Given the description of an element on the screen output the (x, y) to click on. 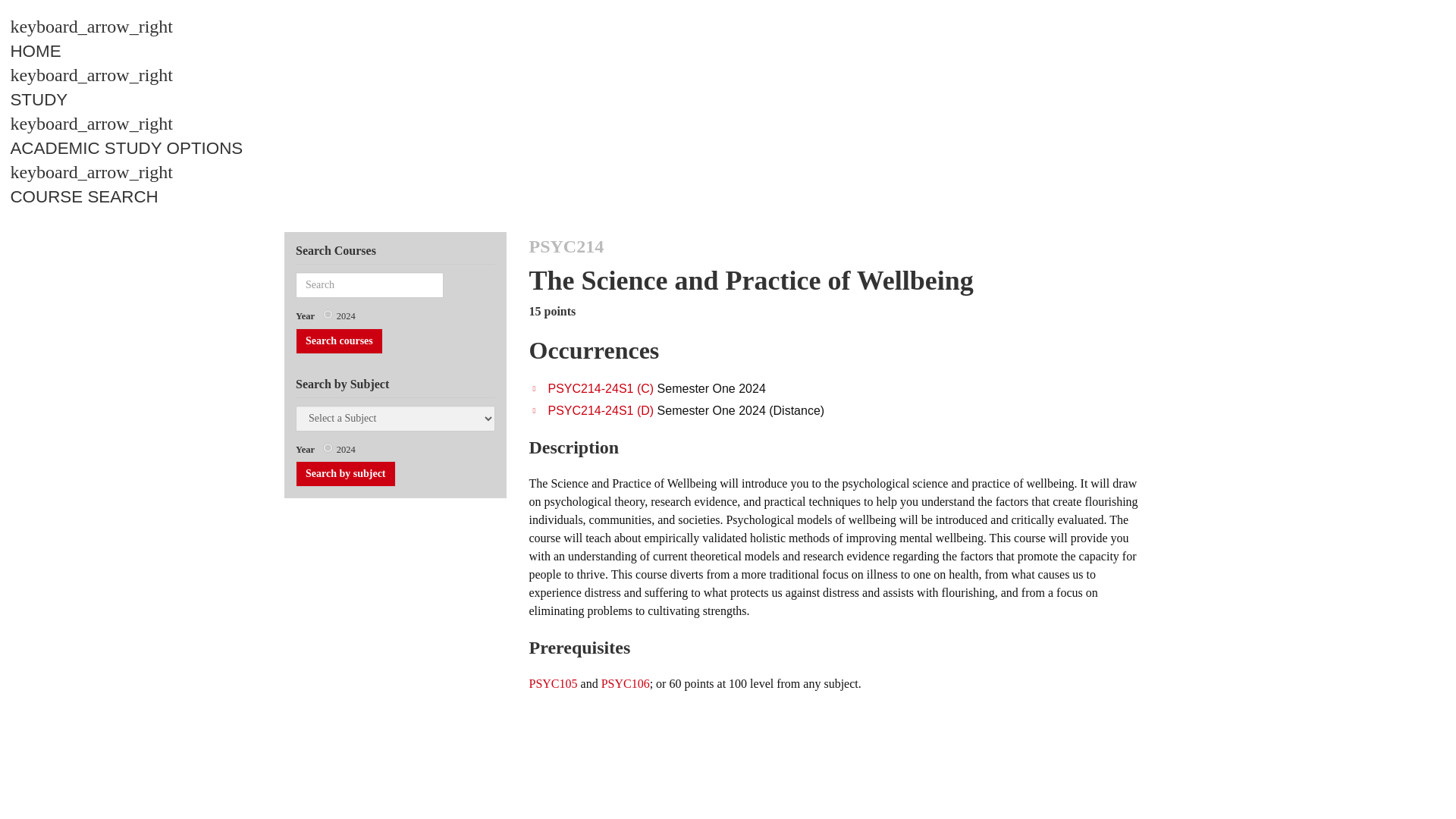
Search by subject (345, 473)
Search by subject (345, 473)
Search courses (338, 340)
2024 (328, 447)
Search courses (338, 340)
PSYC105 (553, 683)
PSYC106 (625, 683)
Search courses (338, 340)
Search by subject (345, 473)
2024 (328, 314)
